Given the description of an element on the screen output the (x, y) to click on. 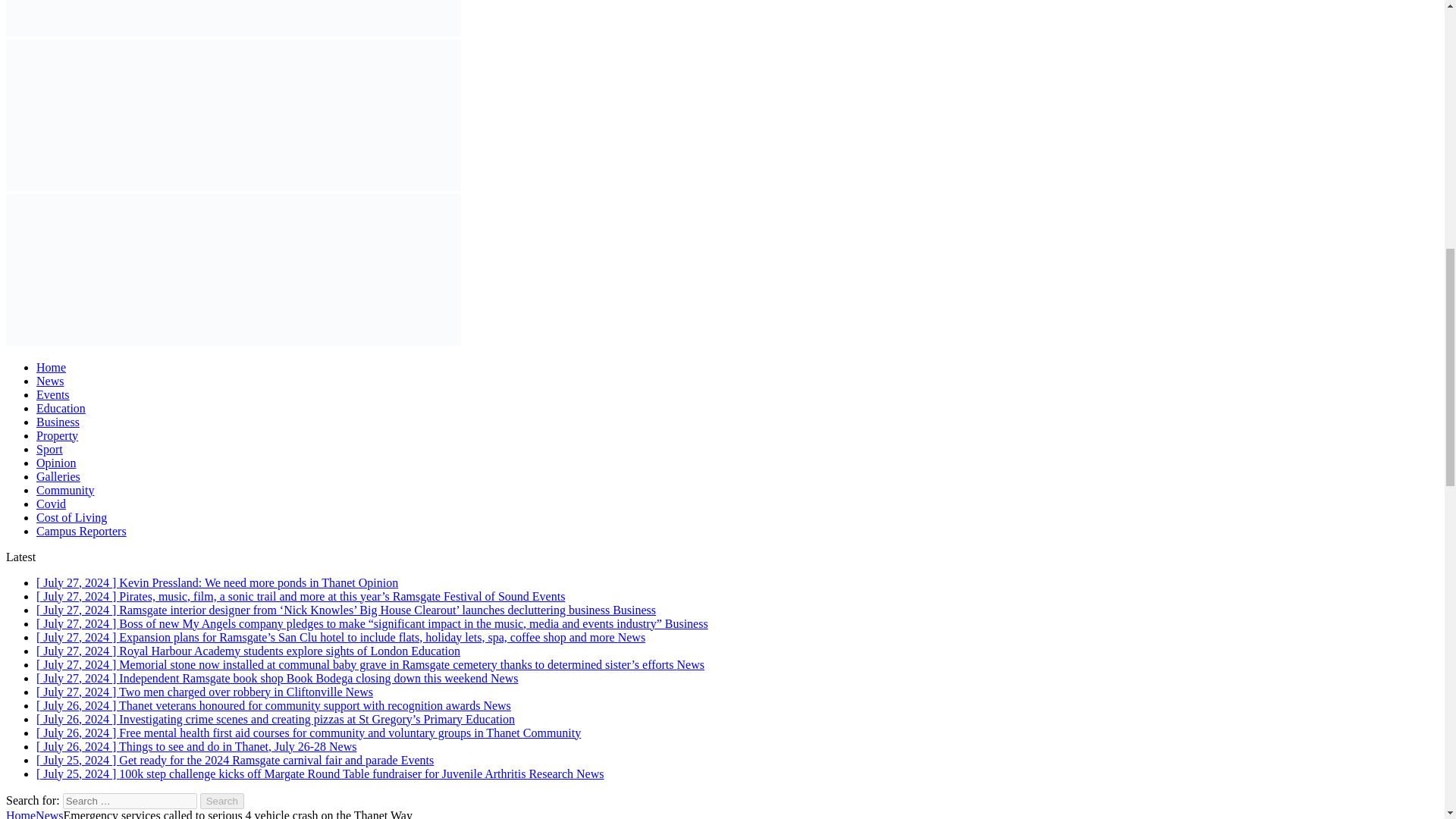
Business (58, 421)
Covid (50, 503)
Search (222, 801)
Community (65, 490)
Things to see and do in Thanet, July 26-28 (196, 746)
Home (50, 367)
Events (52, 394)
Kevin Pressland: We need more ponds in Thanet (216, 582)
Sport (49, 449)
Royal Harbour Academy students explore sights of London (248, 650)
Two men charged over robbery in Cliftonville (204, 691)
Cost of Living (71, 517)
